Given the description of an element on the screen output the (x, y) to click on. 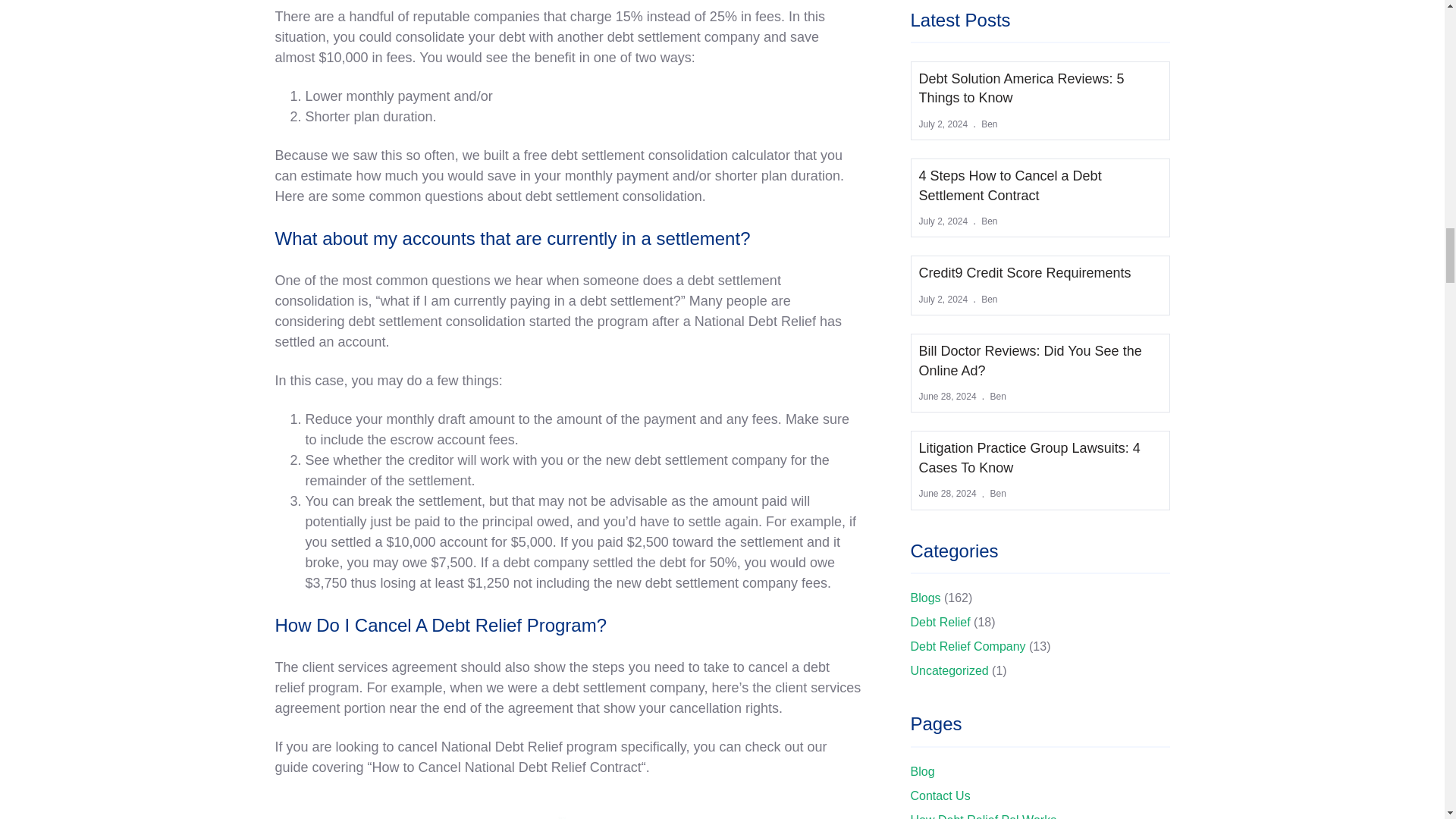
4 Steps How to Cancel a Debt Settlement Contract (1039, 185)
Credit9 Credit Score Requirements (1024, 272)
Bill Doctor Reviews: Did You See the Online Ad? (1039, 361)
Debt Relief (939, 621)
Debt Solution America Reviews: 5 Things to Know (1039, 88)
Uncategorized (949, 670)
Blogs (925, 597)
Contact Us (939, 795)
Blog (922, 771)
Litigation Practice Group Lawsuits: 4 Cases To Know (1039, 457)
